Given the description of an element on the screen output the (x, y) to click on. 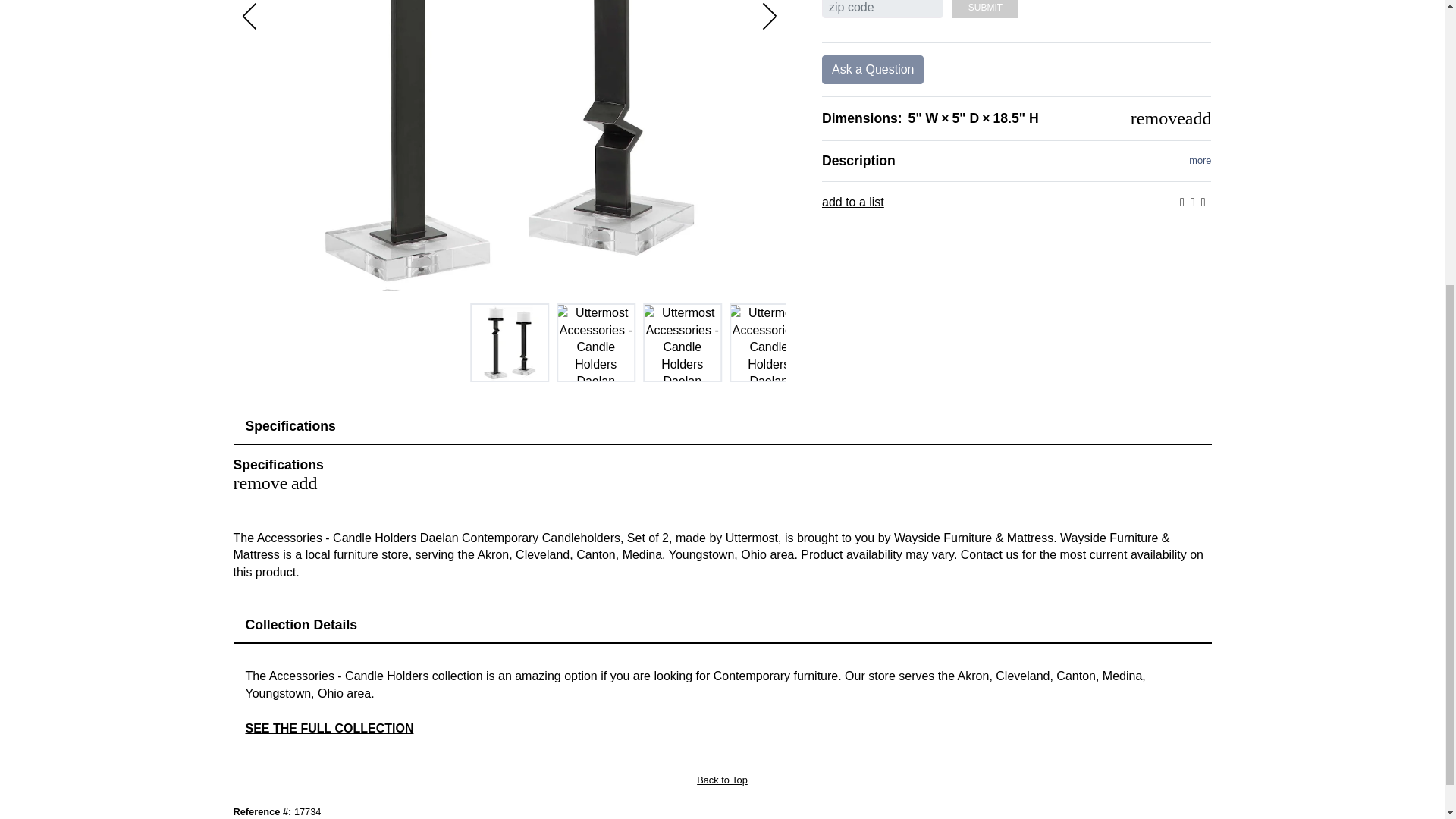
add to a list (852, 202)
SUBMIT (984, 9)
Ask a Question (873, 69)
Contact us (988, 554)
Back to Top (722, 779)
SEE THE FULL COLLECTION (329, 727)
